Given the description of an element on the screen output the (x, y) to click on. 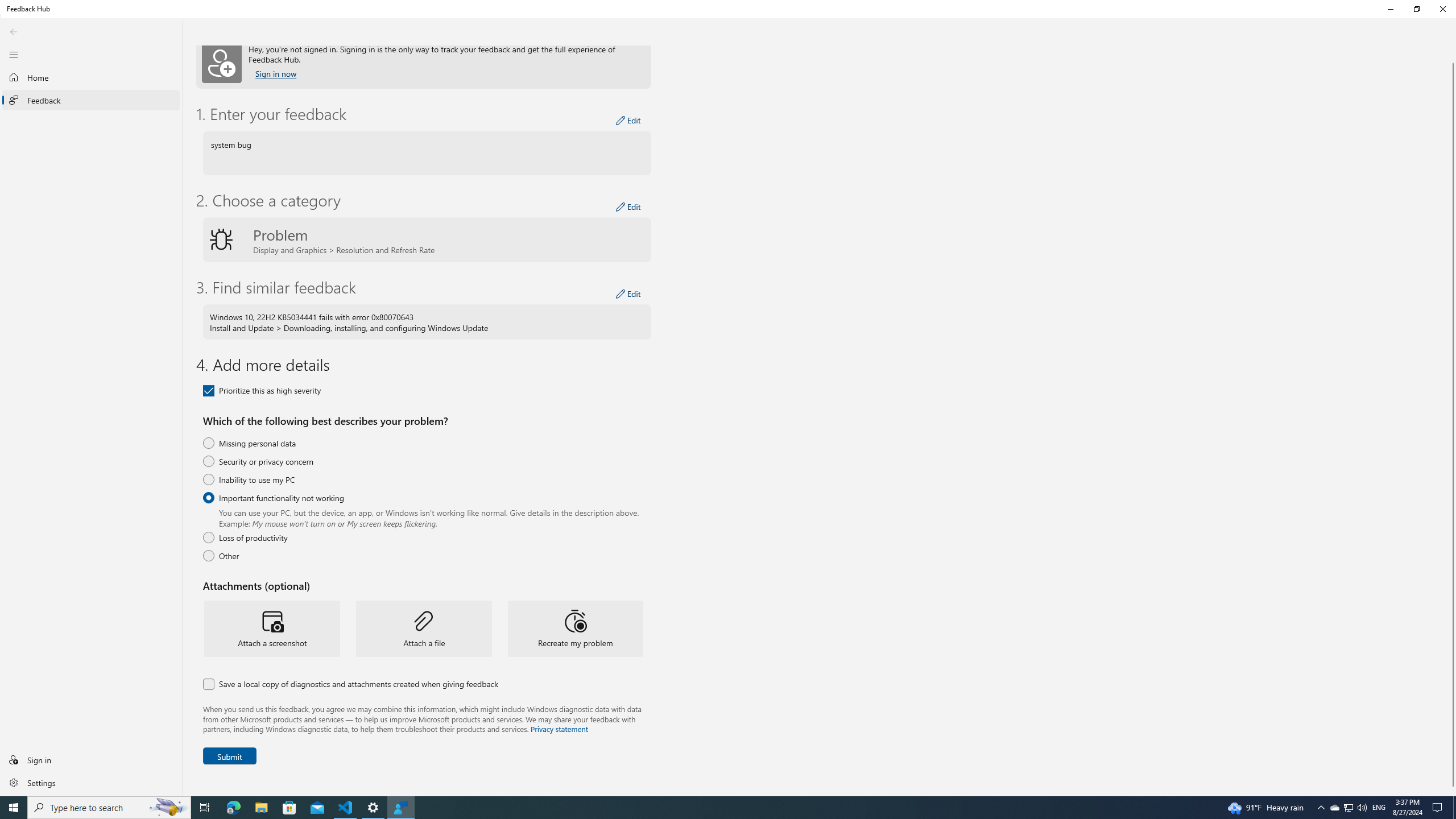
Privacy statement (558, 728)
Start (13, 807)
Feedback (90, 100)
Attach a screenshot (271, 628)
Prioritize this as high severity (261, 390)
Visual Studio Code - 1 running window (345, 807)
Close Feedback Hub (1442, 9)
